Given the description of an element on the screen output the (x, y) to click on. 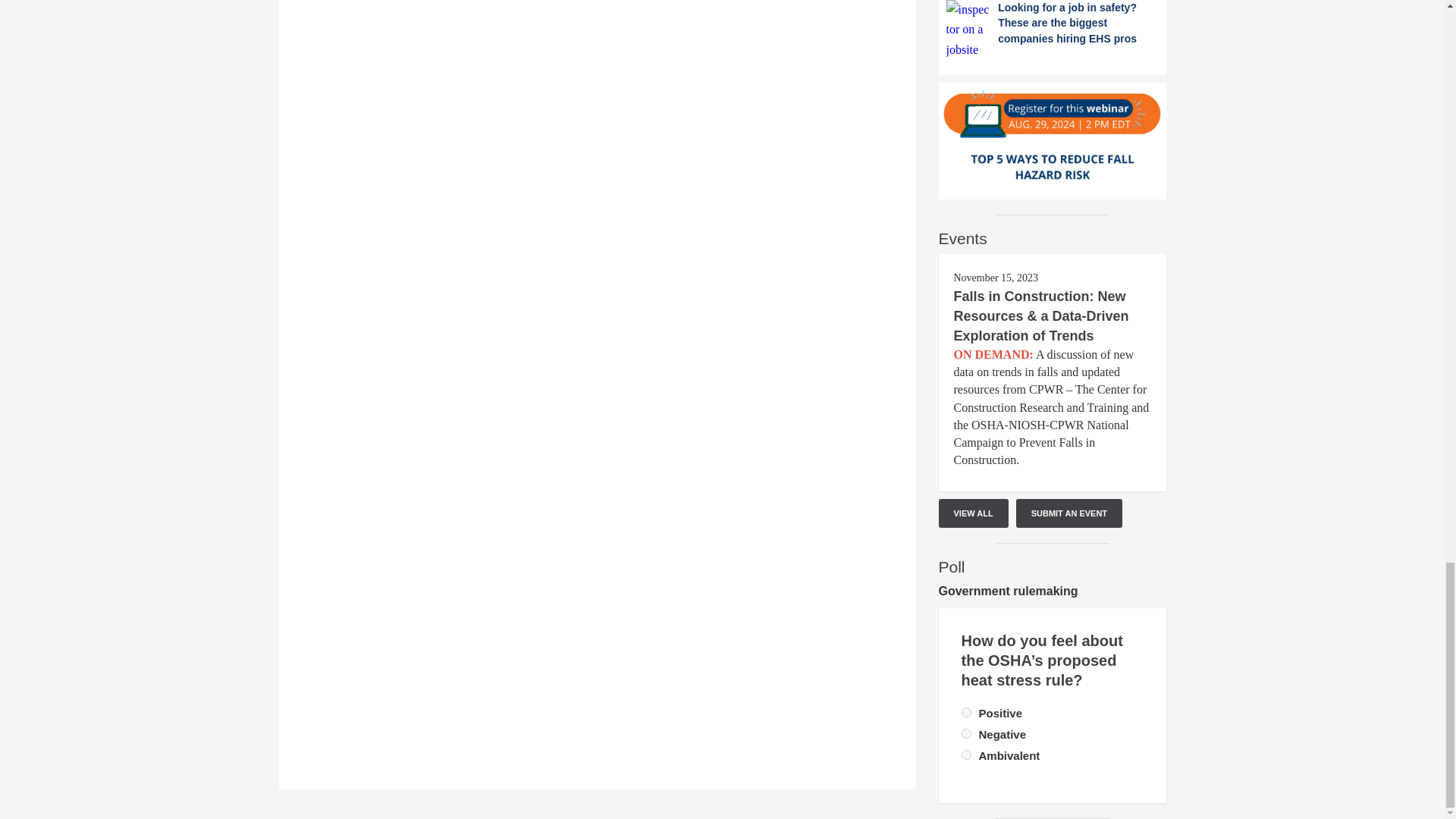
143 (965, 733)
144 (965, 755)
142 (965, 712)
